Given the description of an element on the screen output the (x, y) to click on. 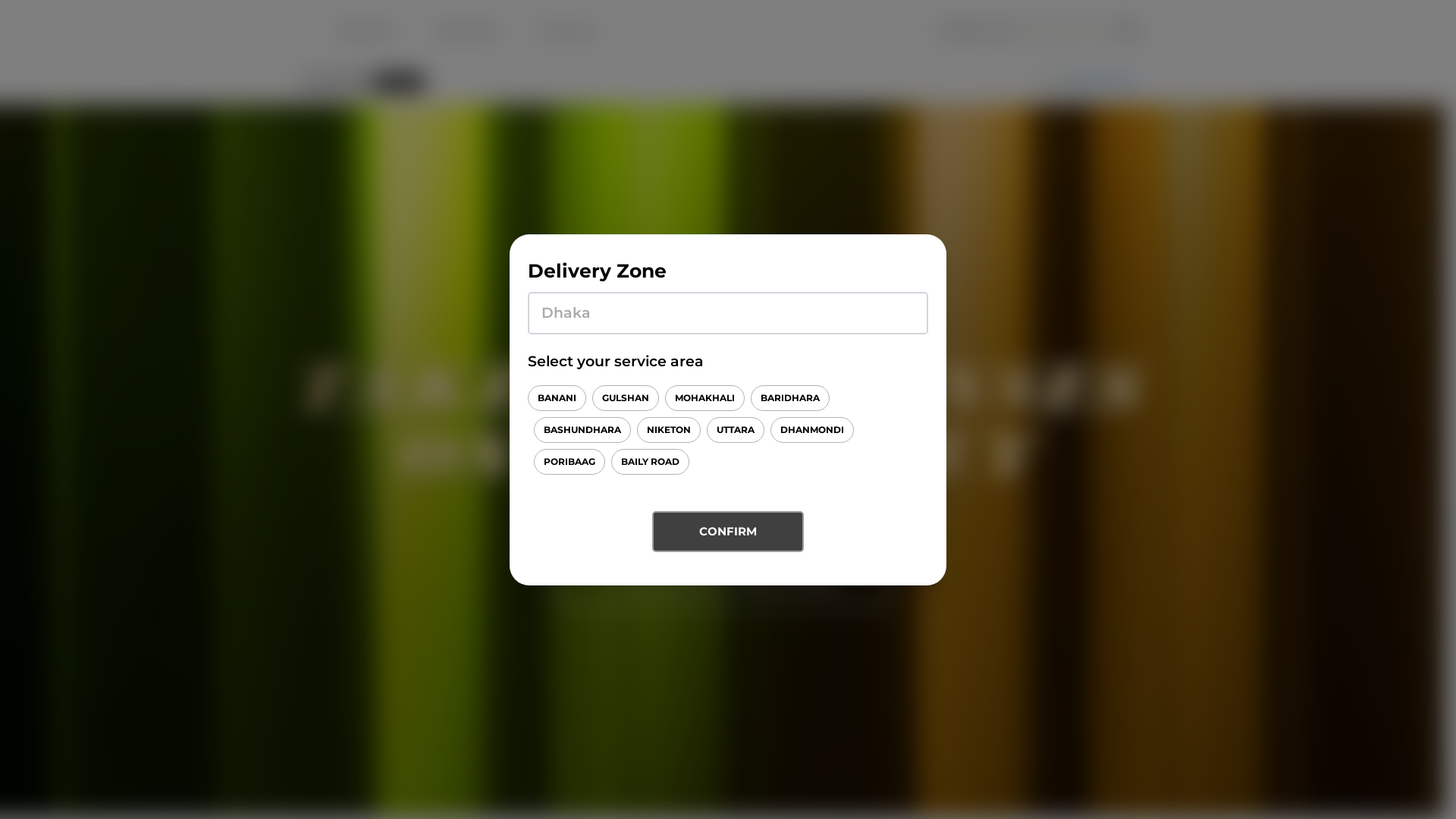
Dhaka Element type: text (398, 82)
EXPERIENCES Element type: text (365, 30)
CONFIRM Element type: text (727, 531)
RESERVATIONS Element type: text (466, 30)
BHN LOUNGE Element type: text (566, 30)
  Element type: text (722, 460)
